Given the description of an element on the screen output the (x, y) to click on. 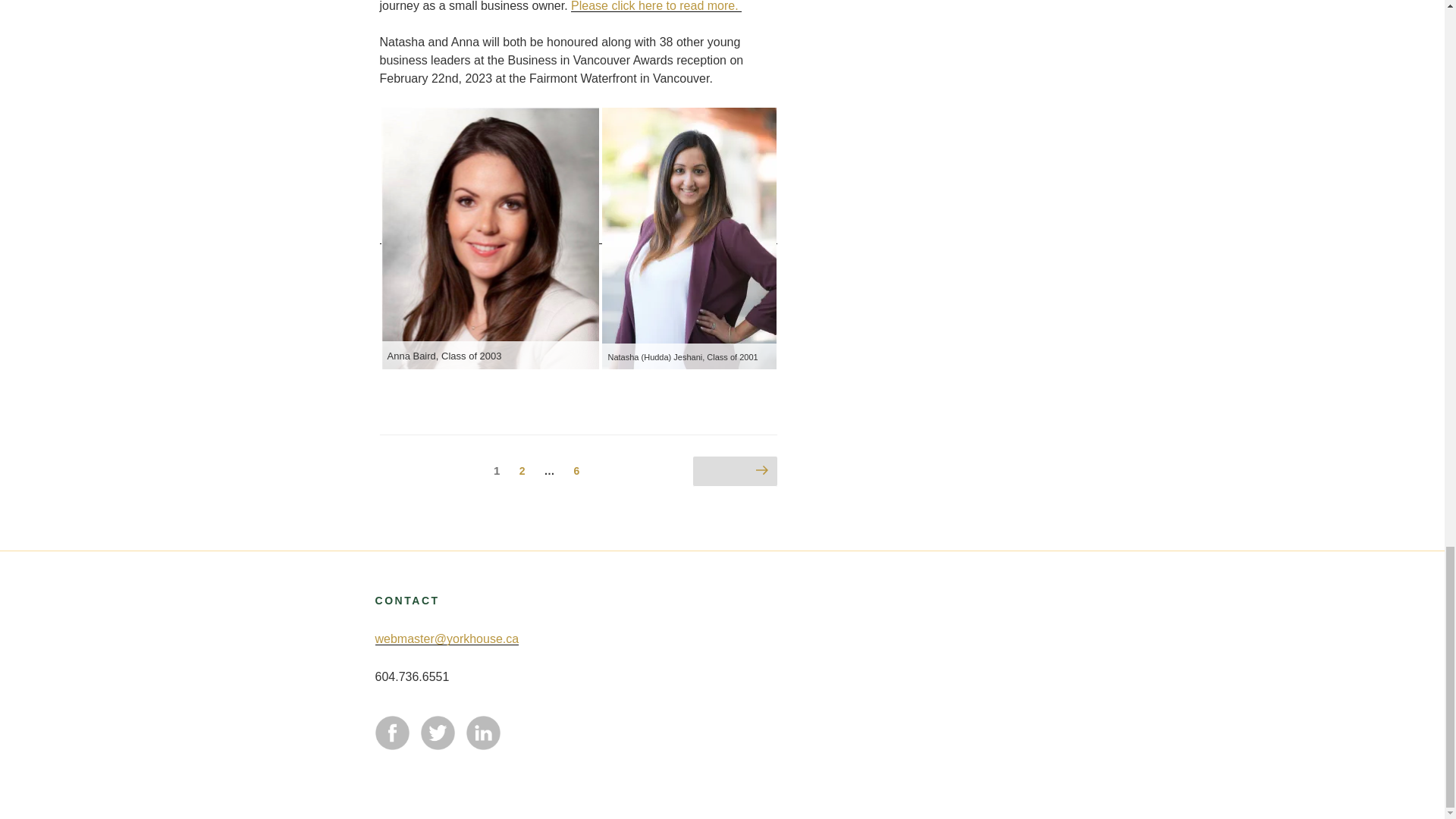
Next page (735, 471)
Please click here to read more.  (655, 6)
